Given the description of an element on the screen output the (x, y) to click on. 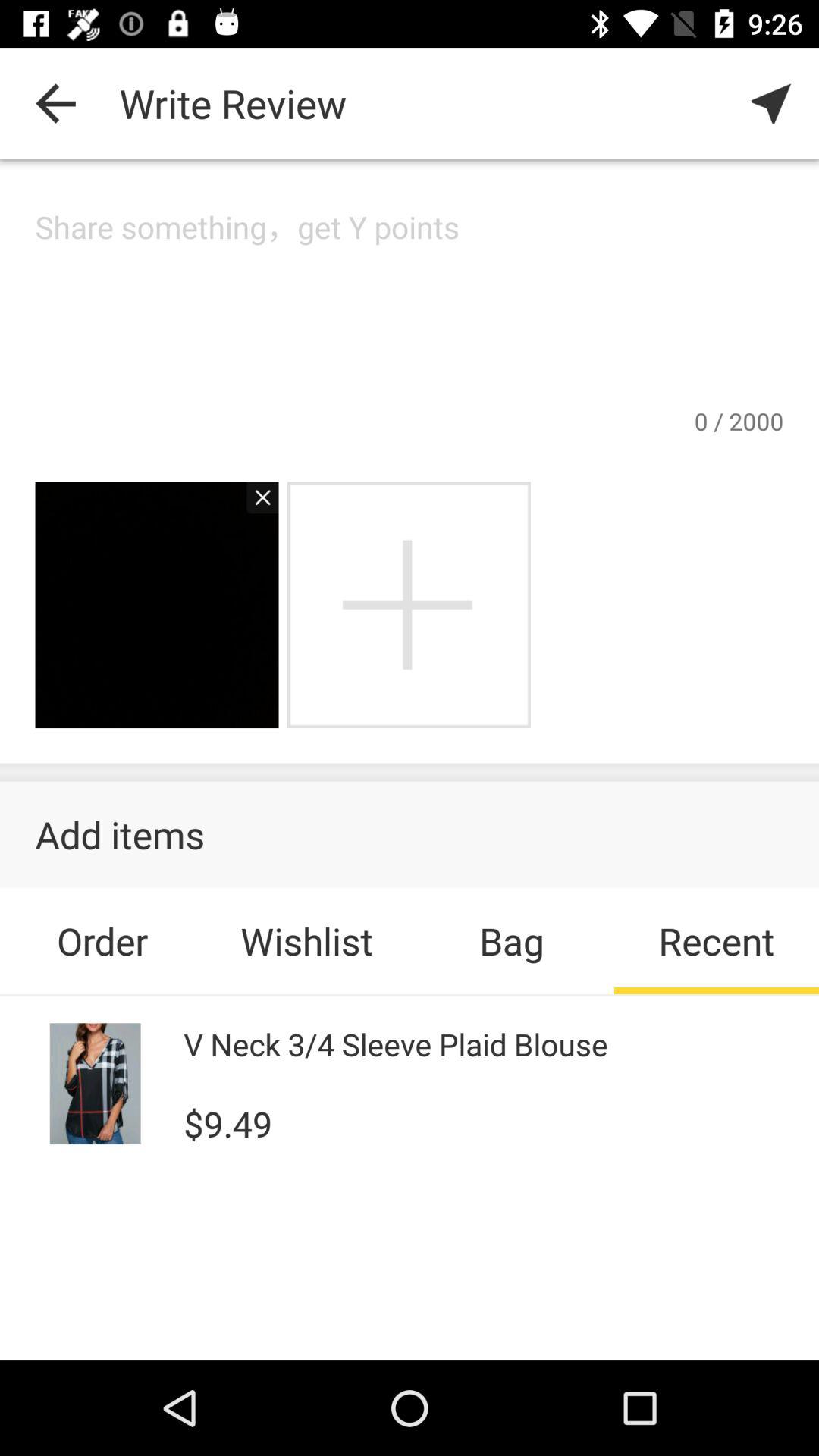
delete attachment (254, 505)
